Given the description of an element on the screen output the (x, y) to click on. 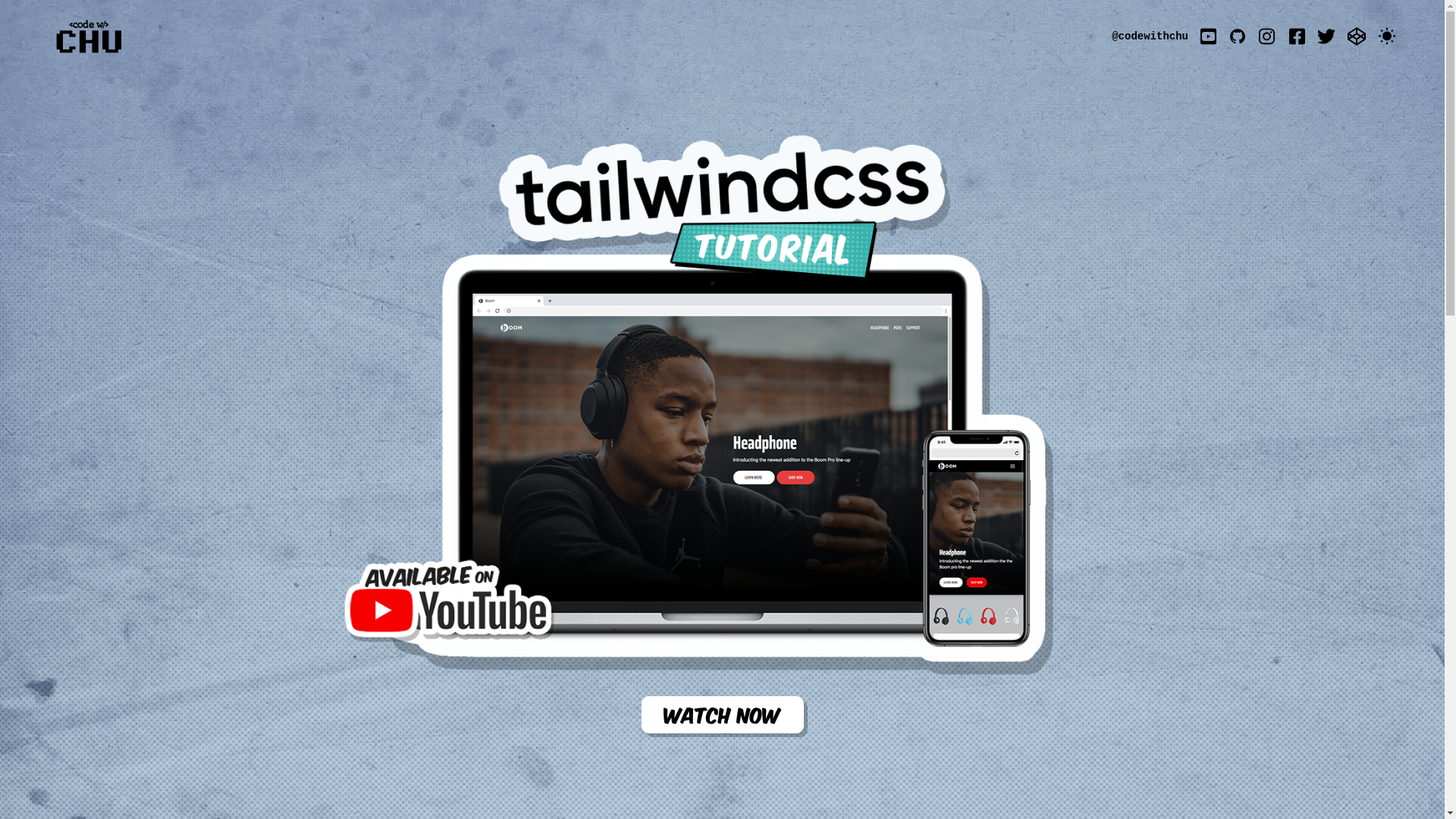
Follow CodeWithChu on Instagram Element type: hover (1267, 36)
Follow CodeWithChu Facebook Page Element type: hover (1297, 36)
Subscribe to CodeWithChu Youtube Channel Element type: hover (1208, 36)
Follow CodeWithChu on Twitter Element type: hover (1326, 36)
Codewithchu Darkmode Element type: hover (1386, 36)
Follow CodeWithChu on Codepen Element type: hover (1356, 36)
Follow CodeWithChu Github Element type: hover (1237, 36)
codewithchu Element type: hover (88, 36)
